Given the description of an element on the screen output the (x, y) to click on. 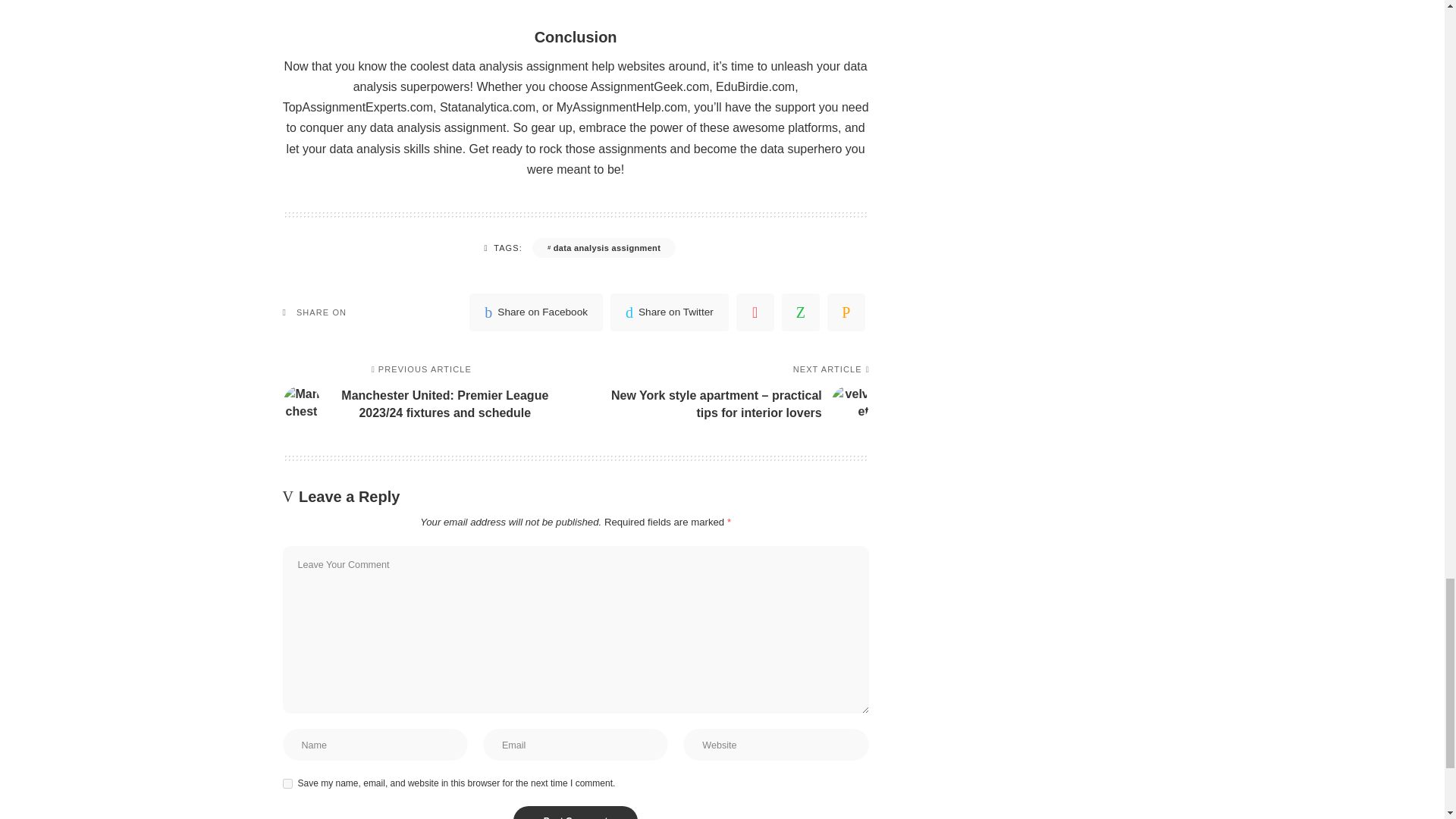
yes (287, 783)
Post Comment (576, 812)
